Given the description of an element on the screen output the (x, y) to click on. 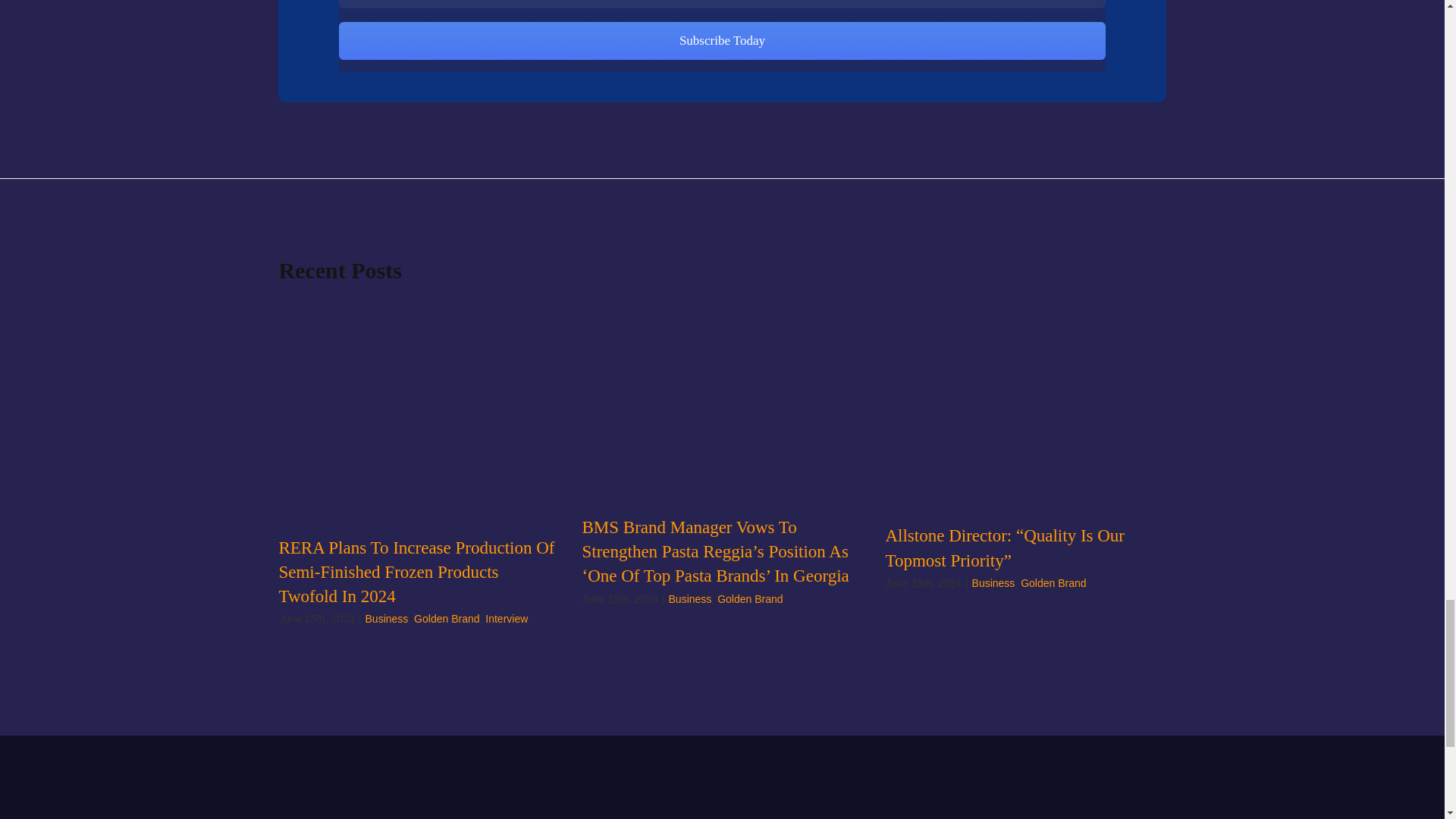
Subscribe Today (722, 36)
